Given the description of an element on the screen output the (x, y) to click on. 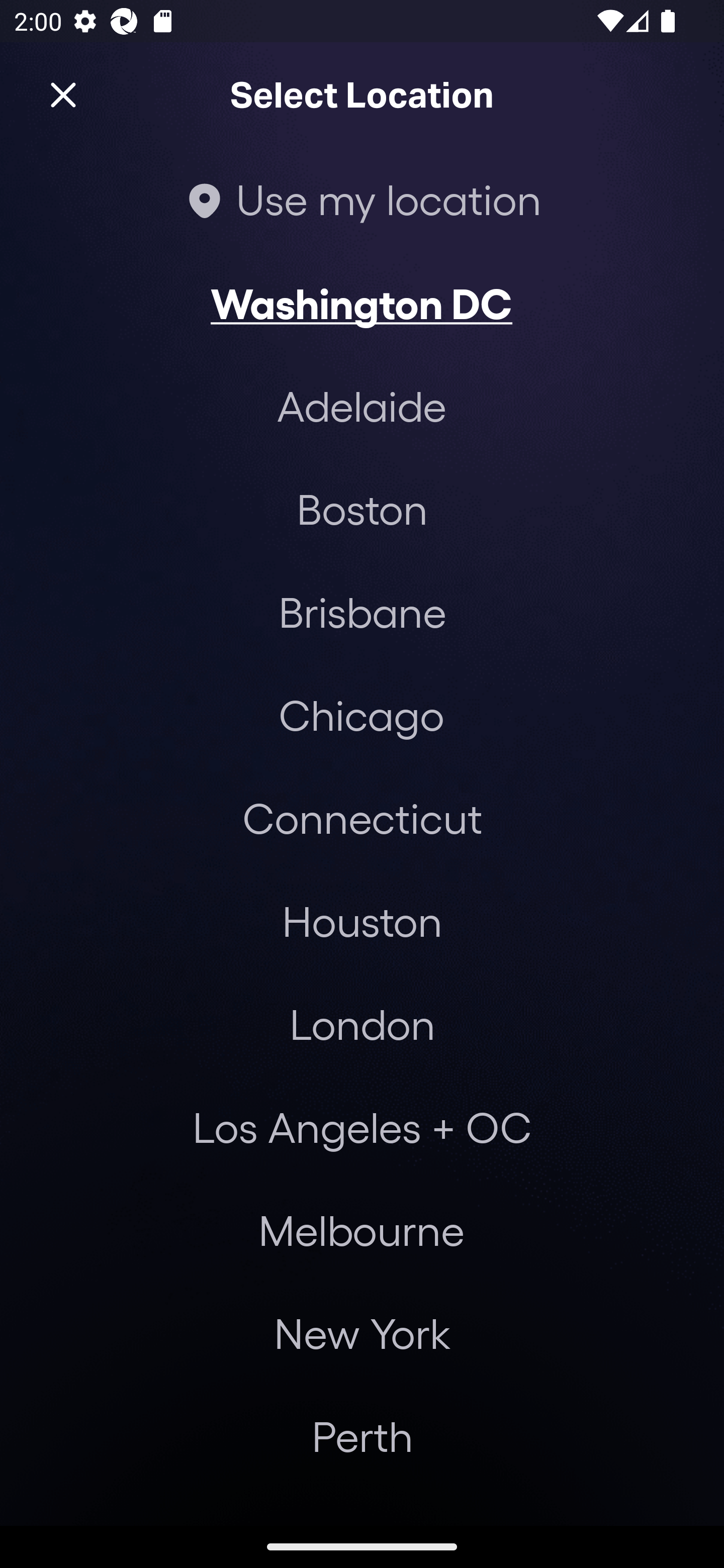
Close (62, 95)
   Use my location (362, 198)
Washington DC (361, 302)
Adelaide (361, 405)
Boston (361, 508)
Brisbane (361, 611)
Chicago (361, 714)
Connecticut (361, 817)
Houston (361, 920)
London (361, 1023)
Los Angeles + OC (361, 1127)
Melbourne (361, 1230)
New York (361, 1332)
Perth (361, 1436)
